Given the description of an element on the screen output the (x, y) to click on. 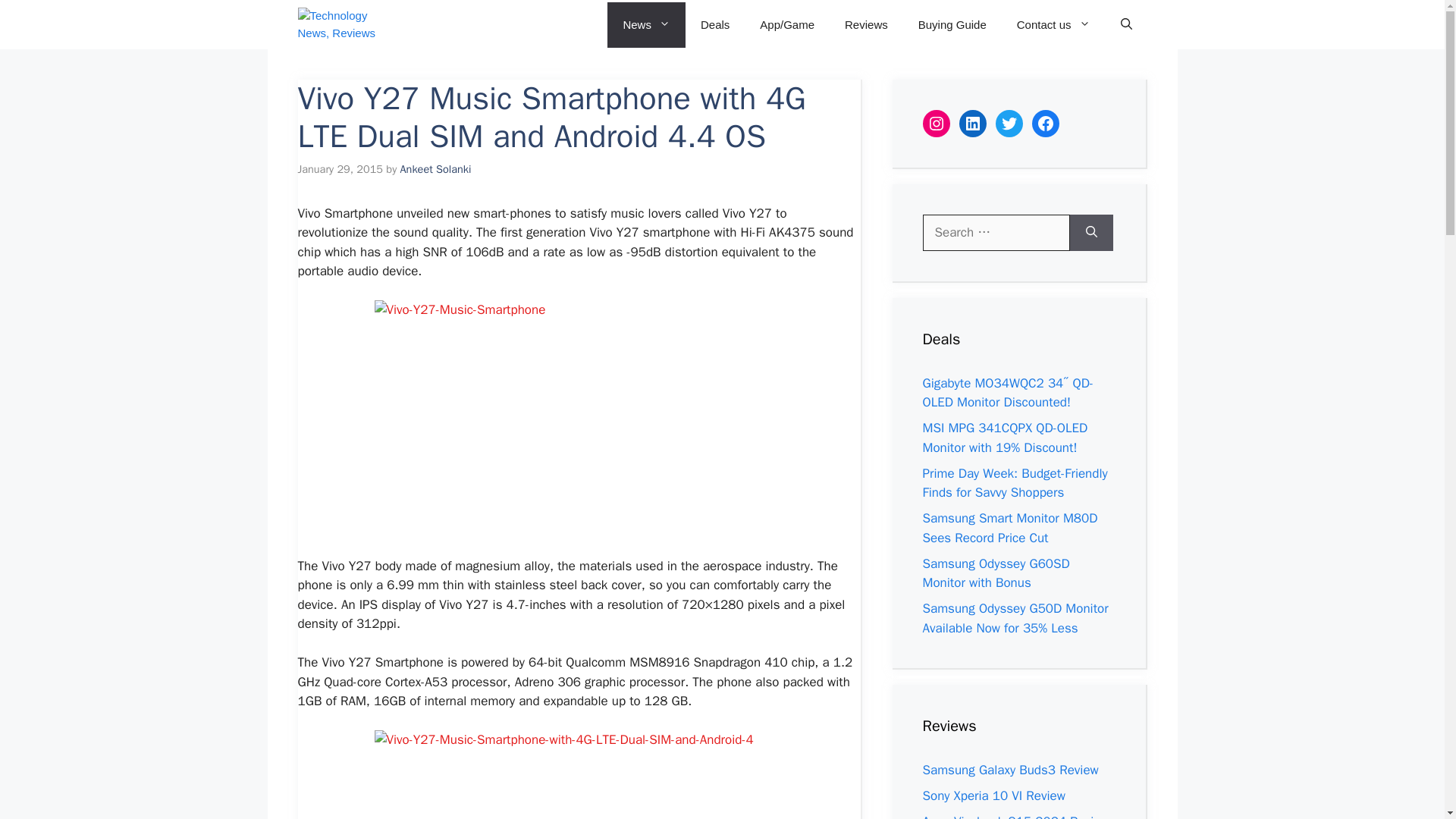
News (646, 23)
Technology News, Reviews and Buying Guides (344, 24)
View all posts by Ankeet Solanki (435, 169)
Search for: (994, 232)
